Given the description of an element on the screen output the (x, y) to click on. 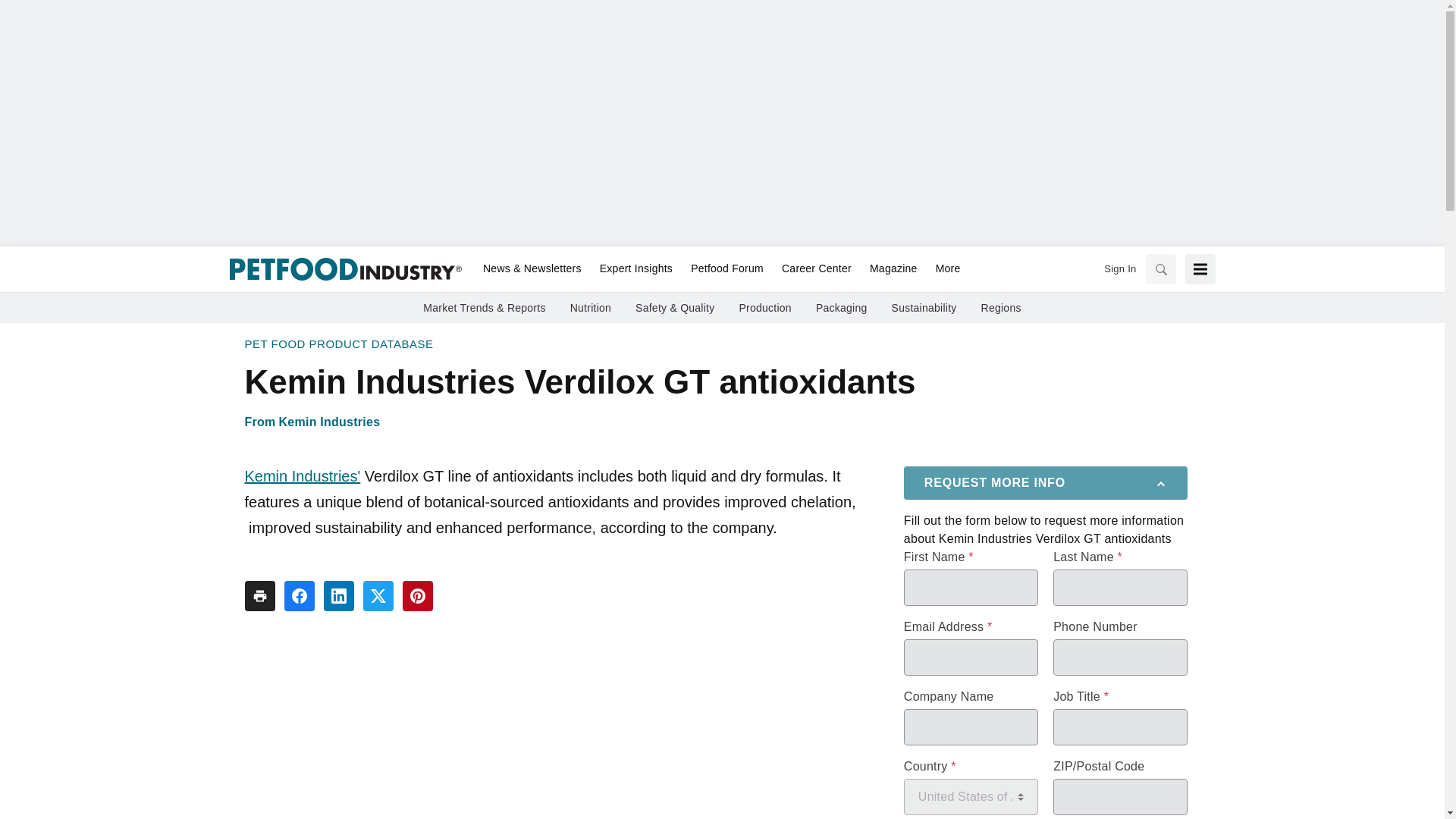
Share To facebook (298, 595)
Magazine (893, 269)
Sustainability (923, 307)
Regions (1001, 307)
Share To print (259, 595)
Sign In (1119, 268)
Nutrition (590, 307)
Share To pinterest (416, 595)
More (943, 269)
Career Center (816, 269)
Pet Food Product Database (338, 343)
Production (764, 307)
Expert Insights (636, 269)
Share To twitter (377, 595)
